Given the description of an element on the screen output the (x, y) to click on. 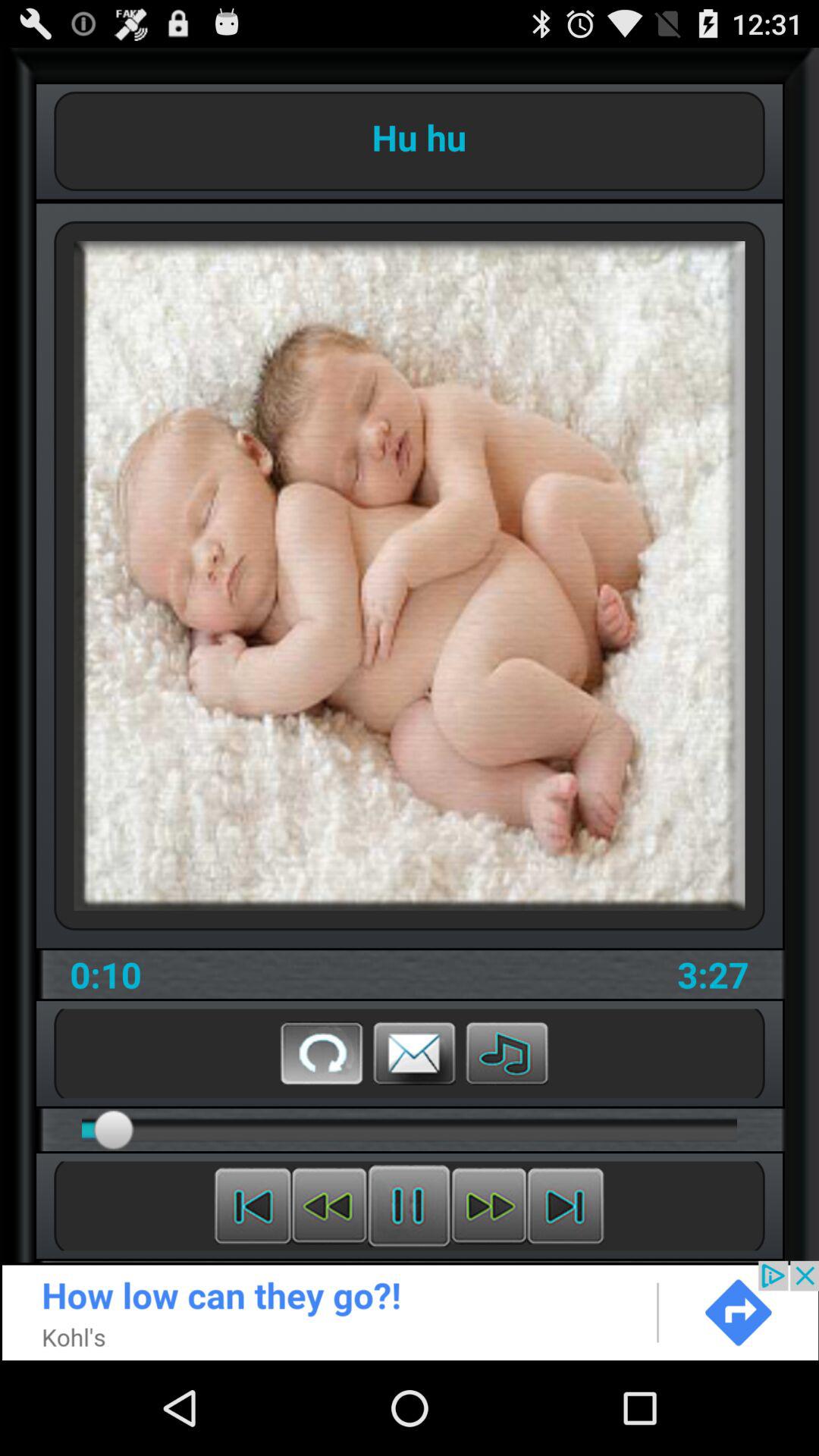
go to previous (252, 1205)
